Given the description of an element on the screen output the (x, y) to click on. 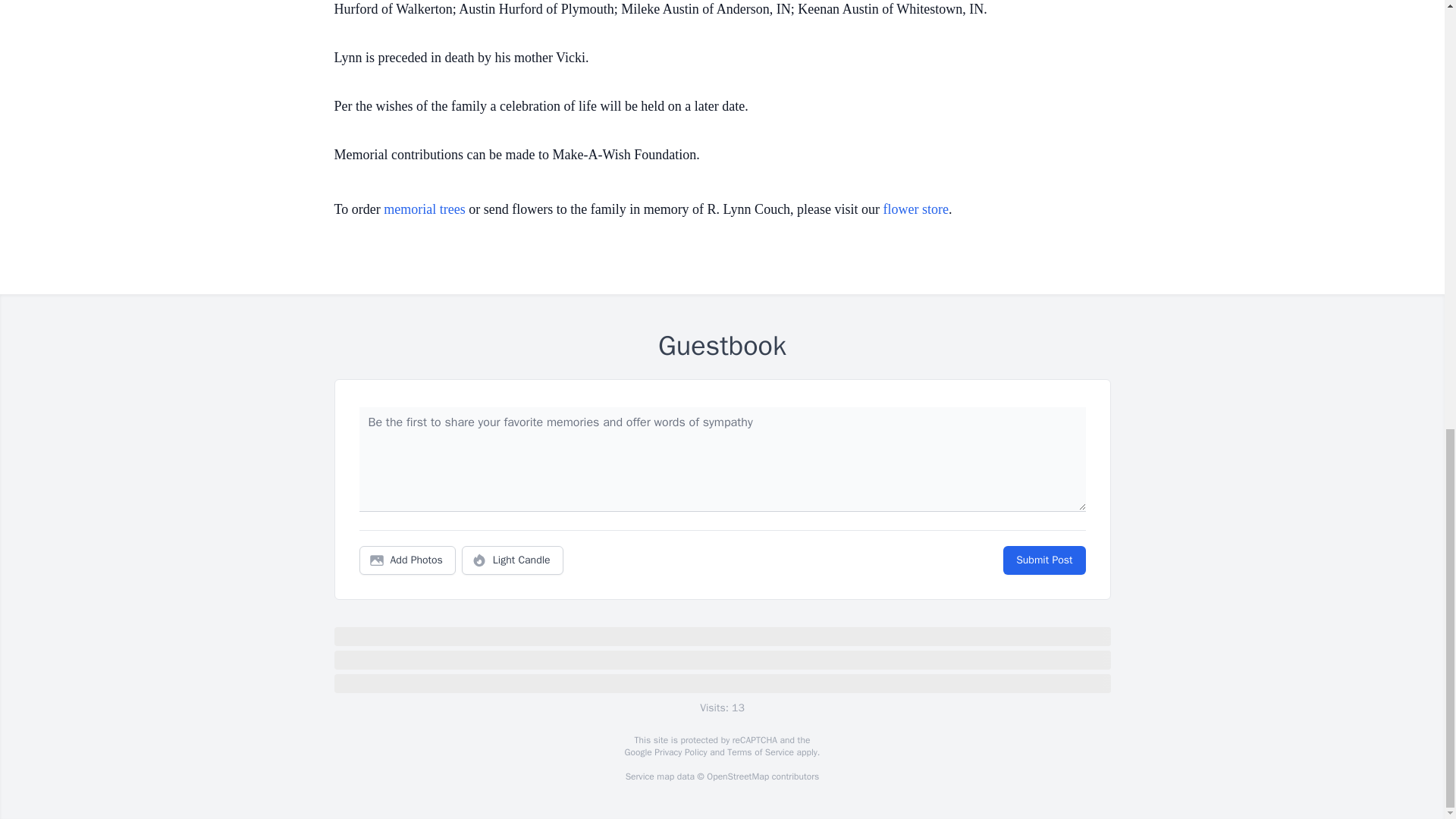
Terms of Service (759, 752)
Submit Post (1043, 560)
OpenStreetMap (737, 776)
Add Photos (407, 560)
flower store (916, 209)
Light Candle (512, 560)
Privacy Policy (679, 752)
memorial trees (424, 209)
